Given the description of an element on the screen output the (x, y) to click on. 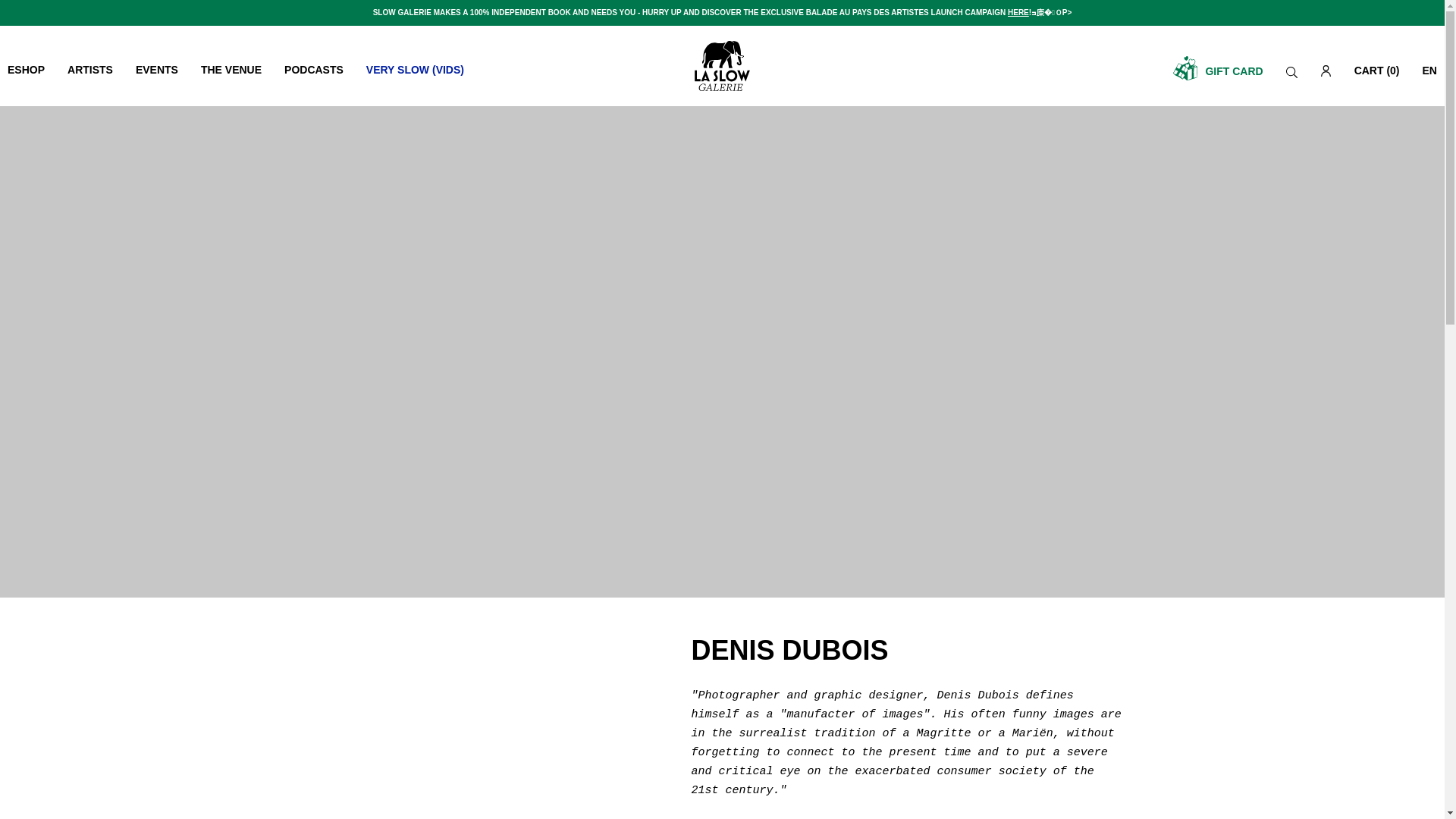
PODCASTS (314, 70)
ARTISTS (89, 70)
Search (1291, 71)
GIFT CARD (1217, 68)
Slow Galerie (722, 65)
ESHOP (28, 70)
Eshop (28, 70)
Slow Galerie (722, 65)
Events (156, 70)
Podcasts (314, 70)
